Given the description of an element on the screen output the (x, y) to click on. 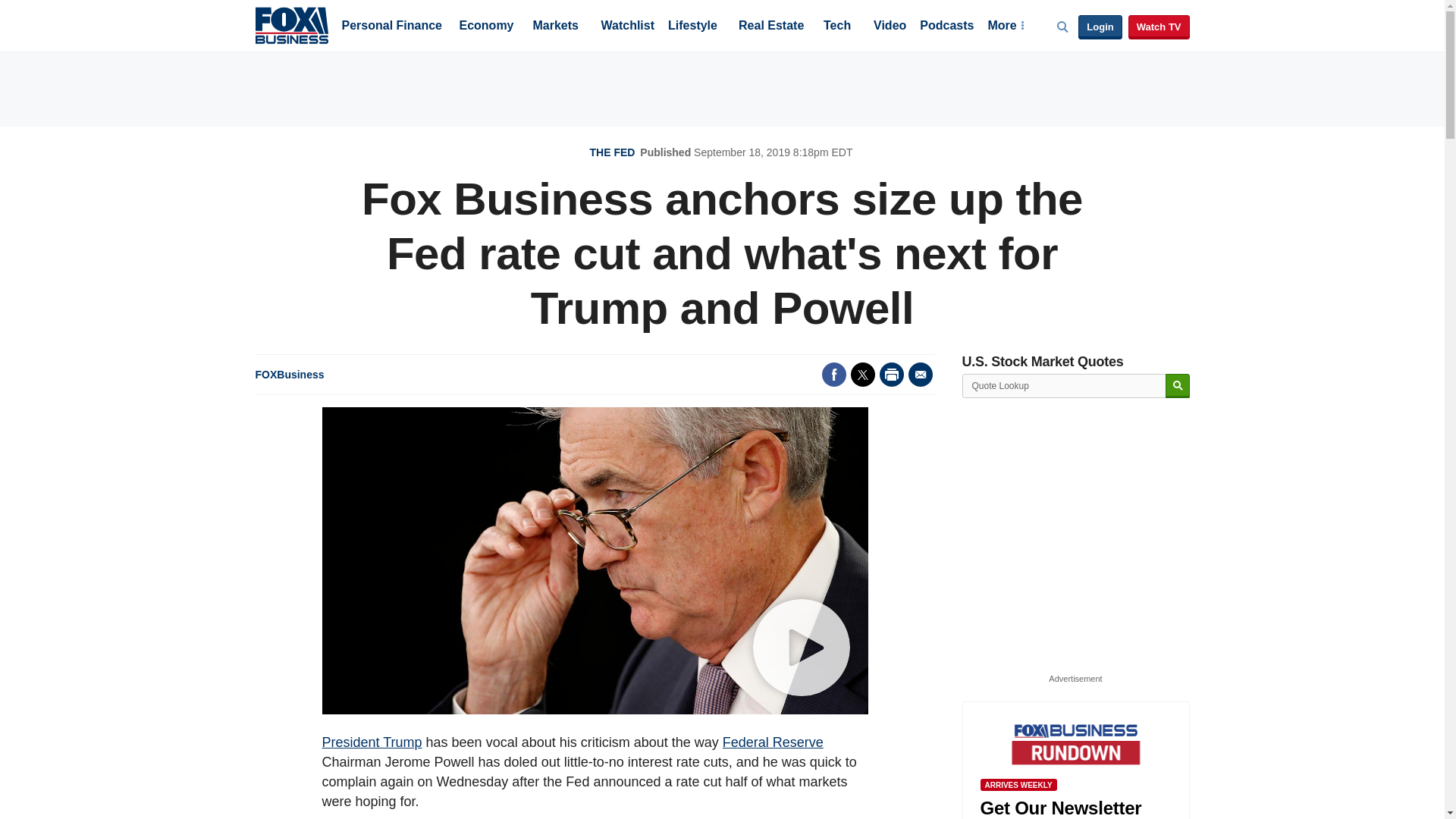
Watchlist (626, 27)
Login (1099, 27)
Economy (486, 27)
Real Estate (770, 27)
Video (889, 27)
Fox Business (290, 24)
Watch TV (1158, 27)
Lifestyle (692, 27)
Tech (837, 27)
Markets (555, 27)
